Given the description of an element on the screen output the (x, y) to click on. 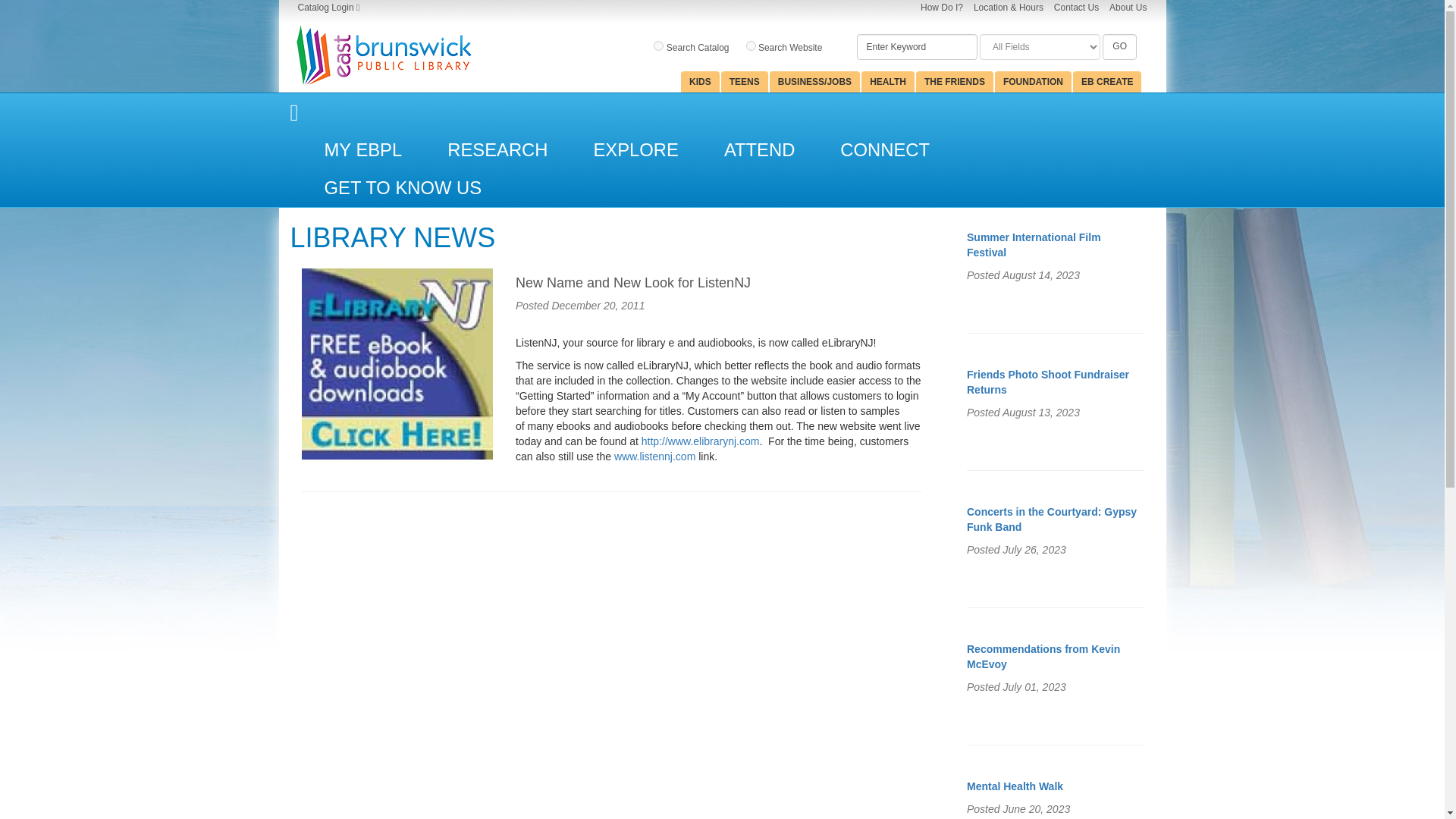
Search Catalog (658, 45)
Contact Us (1076, 8)
TEENS (744, 82)
Catalog Login (327, 8)
About Us (1128, 8)
Library Foundation (1032, 82)
New Name and New Look for ListenNJ (397, 363)
EBPL Kids (700, 82)
EBPL Teens (744, 82)
How Do I? (941, 8)
Enter Keyword (916, 46)
GO (1119, 46)
Search Catalog (691, 46)
EB Create (1107, 82)
THE FRIENDS (953, 82)
